Given the description of an element on the screen output the (x, y) to click on. 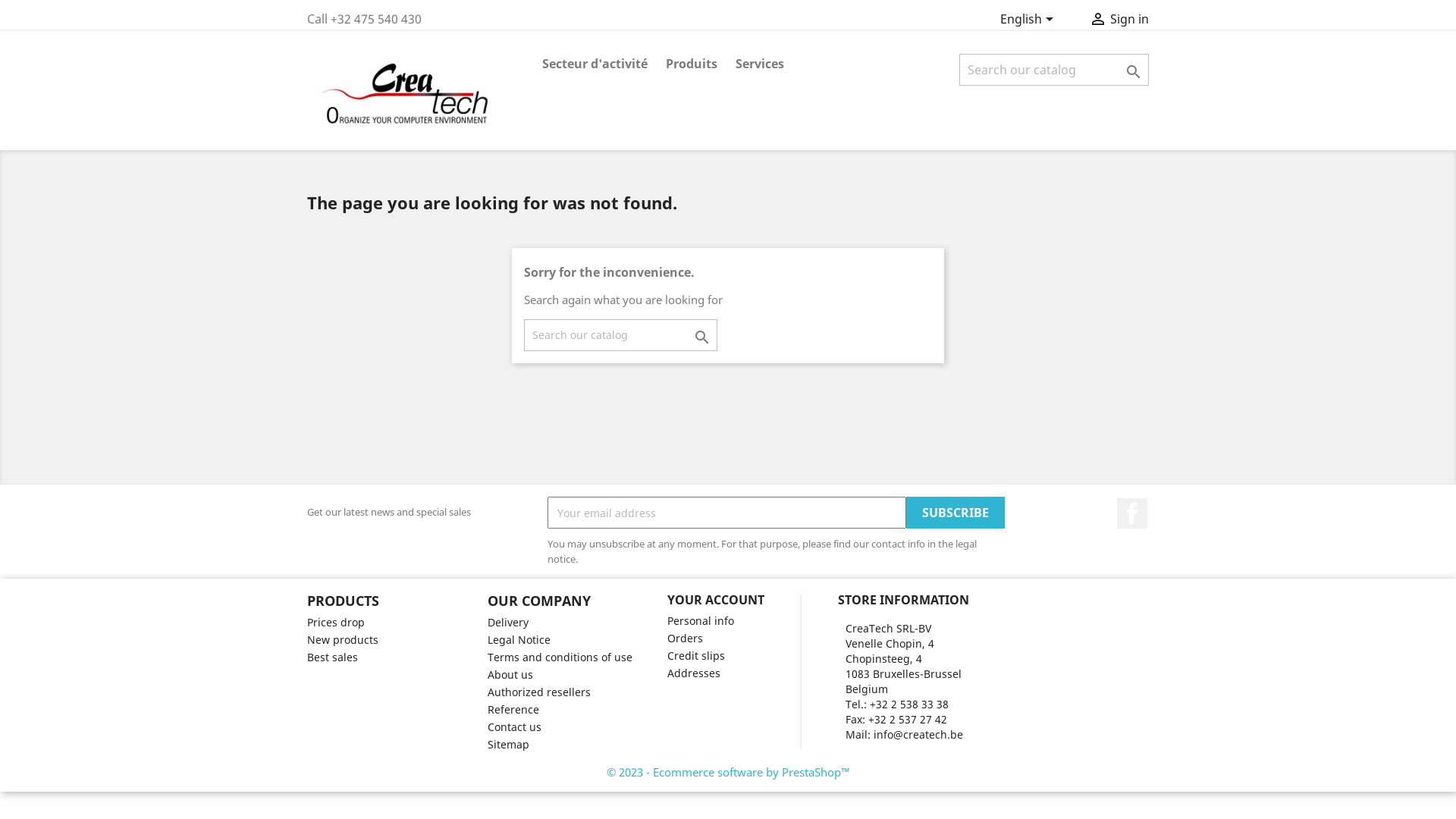
YOUR ACCOUNT Element type: text (715, 599)
Personal info Element type: text (700, 620)
Subscribe Element type: text (955, 512)
Authorized resellers Element type: text (537, 691)
About us Element type: text (509, 674)
Reference Element type: text (512, 709)
Prices drop Element type: text (335, 622)
Orders Element type: text (684, 637)
Services Element type: text (759, 64)
Produits Element type: text (691, 64)
Terms and conditions of use Element type: text (558, 656)
Credit slips Element type: text (695, 655)
Best sales Element type: text (332, 656)
Facebook Element type: text (1132, 513)
Contact us Element type: text (513, 726)
Sitemap Element type: text (507, 744)
Addresses Element type: text (693, 672)
Legal Notice Element type: text (517, 639)
New products Element type: text (342, 639)
info@createch.be Element type: text (918, 734)
Delivery Element type: text (506, 622)
